Given the description of an element on the screen output the (x, y) to click on. 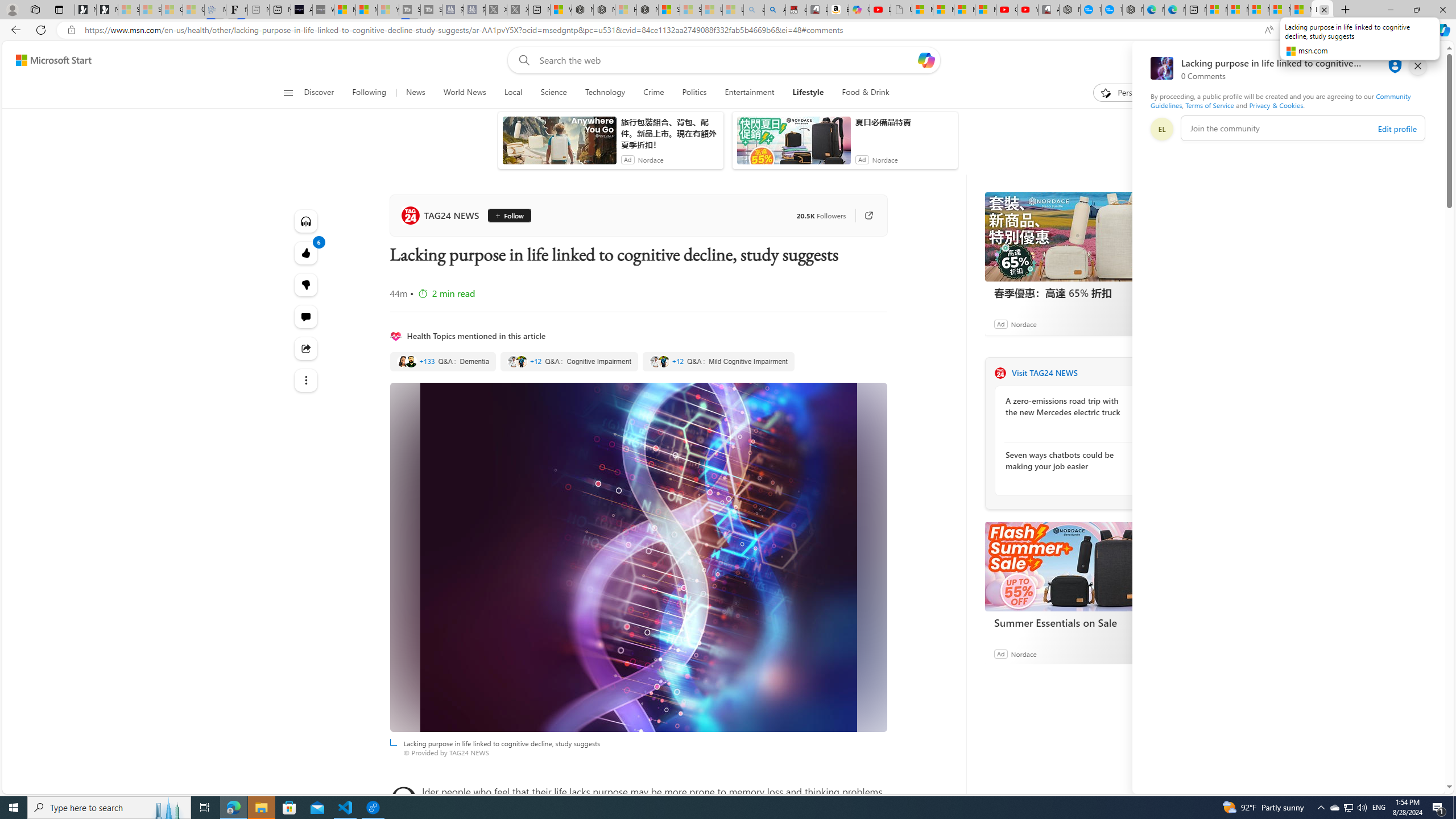
close (1417, 65)
What's the best AI voice generator? - voice.ai - Sleeping (323, 9)
Copilot (859, 9)
World News (464, 92)
TAG24 NEWS (1000, 372)
Edit profile (1396, 128)
